Given the description of an element on the screen output the (x, y) to click on. 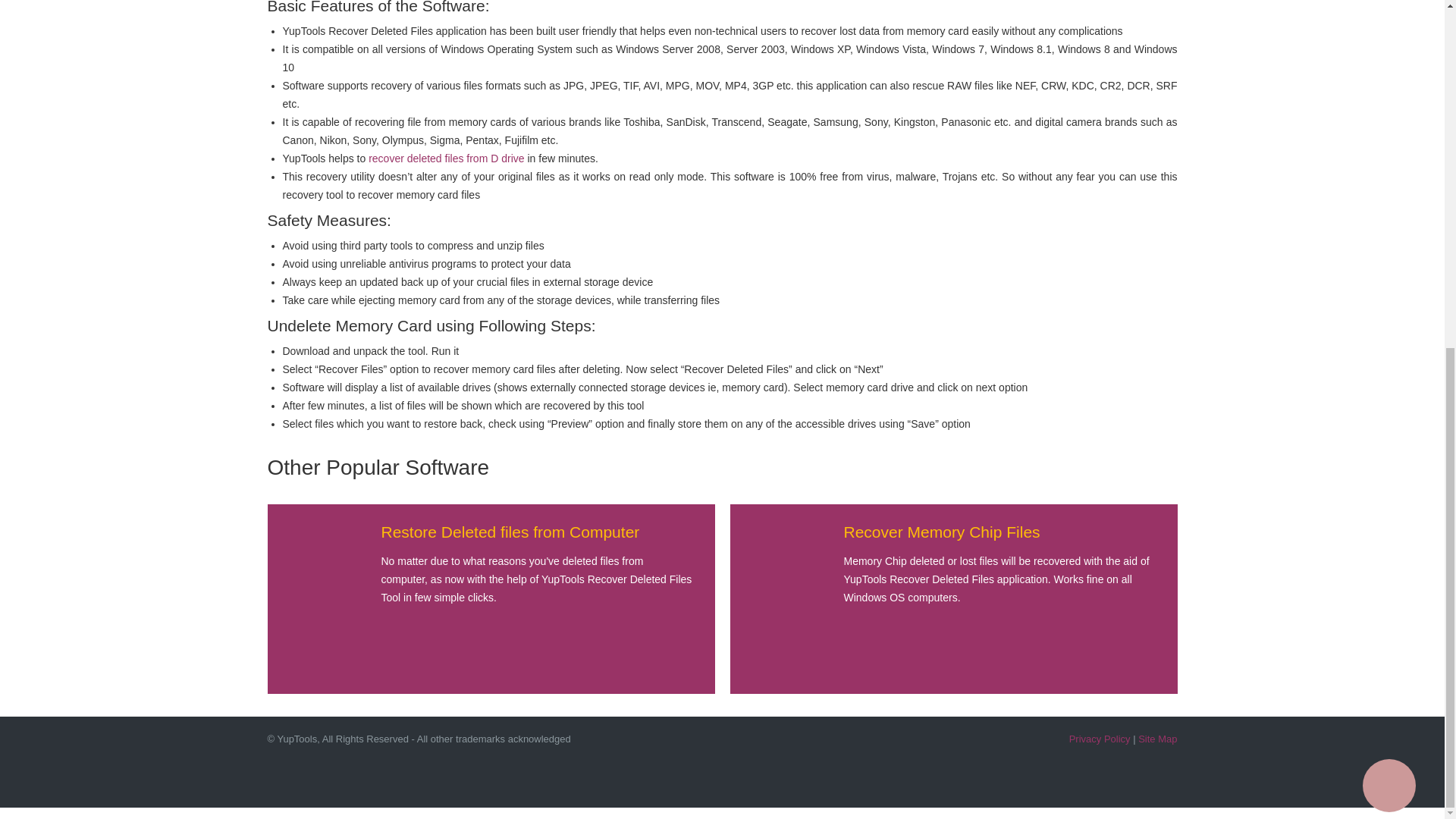
recover deleted files from D drive (446, 158)
Recover Memory Chip Files (941, 531)
Site Map (1157, 738)
Restore Deleted files from Computer (509, 531)
Privacy Policy (1099, 738)
